Given the description of an element on the screen output the (x, y) to click on. 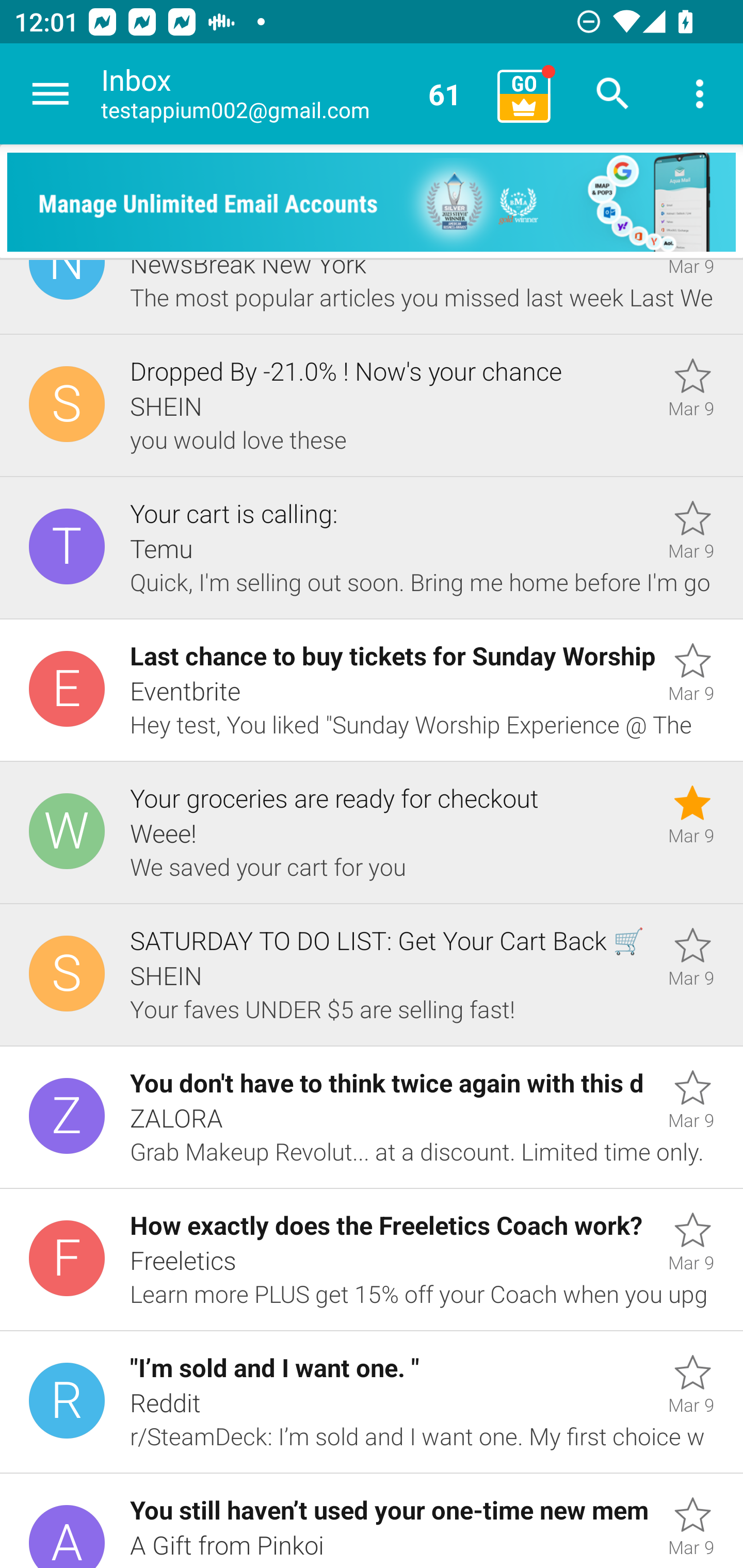
Navigate up (50, 93)
Inbox testappium002@gmail.com 61 (291, 93)
Search (612, 93)
More options (699, 93)
